Given the description of an element on the screen output the (x, y) to click on. 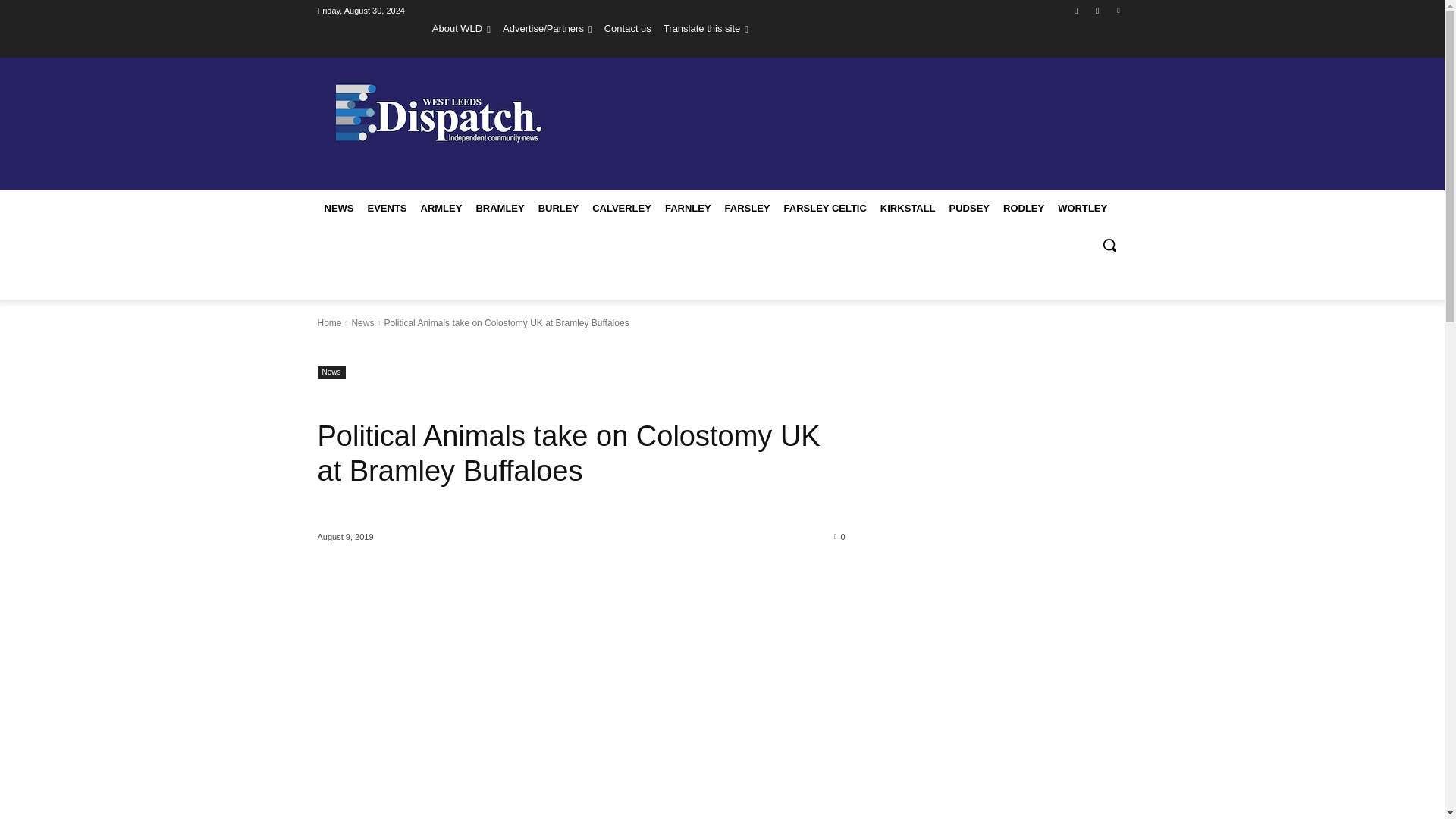
About WLD (461, 28)
Contact us (627, 28)
Translate this site (705, 28)
